Given the description of an element on the screen output the (x, y) to click on. 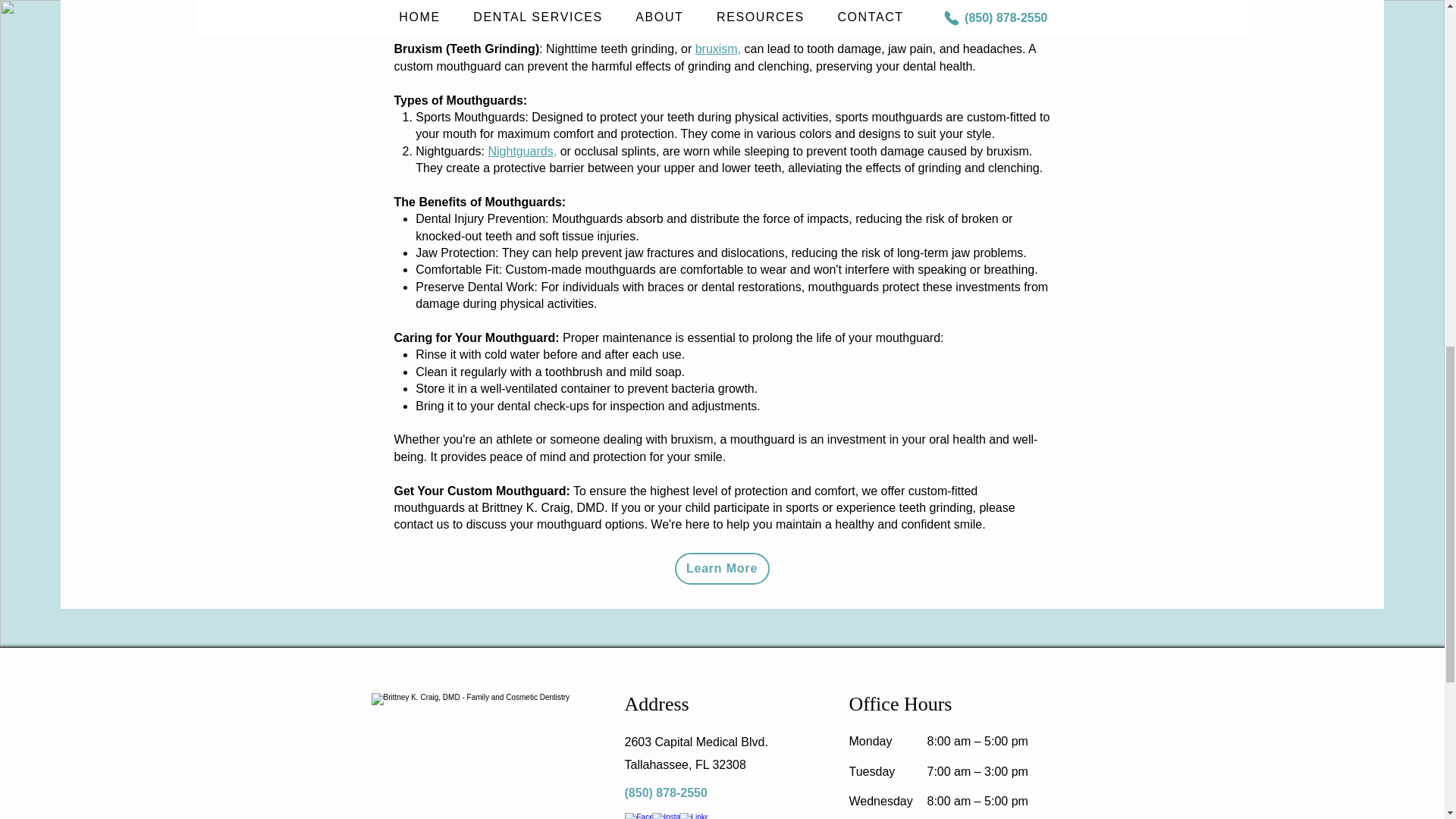
Learn More (696, 753)
bruxism (722, 568)
Nightguards (716, 48)
